Given the description of an element on the screen output the (x, y) to click on. 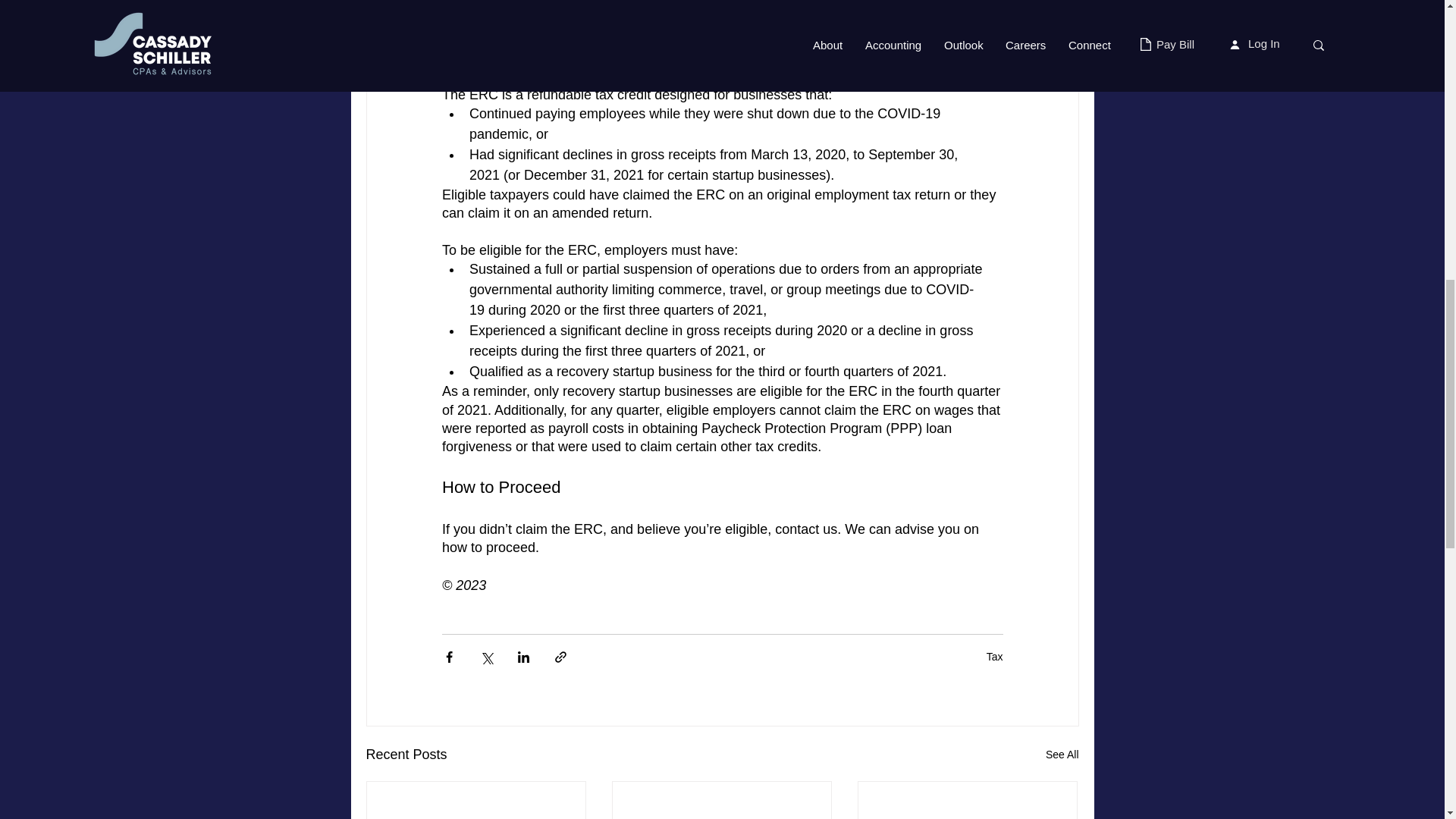
See All (1061, 754)
Tax (995, 656)
